Given the description of an element on the screen output the (x, y) to click on. 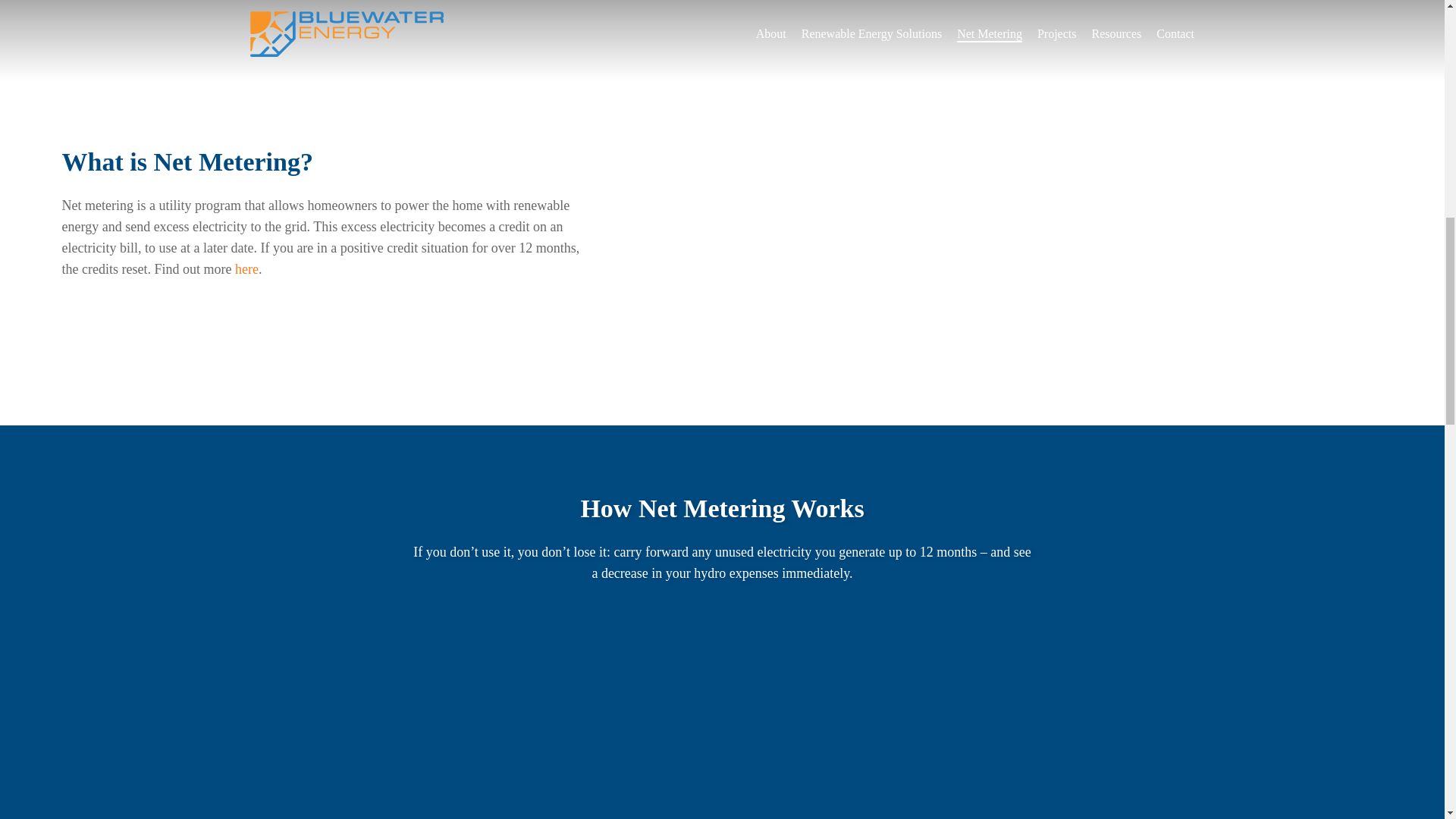
here (246, 268)
